Given the description of an element on the screen output the (x, y) to click on. 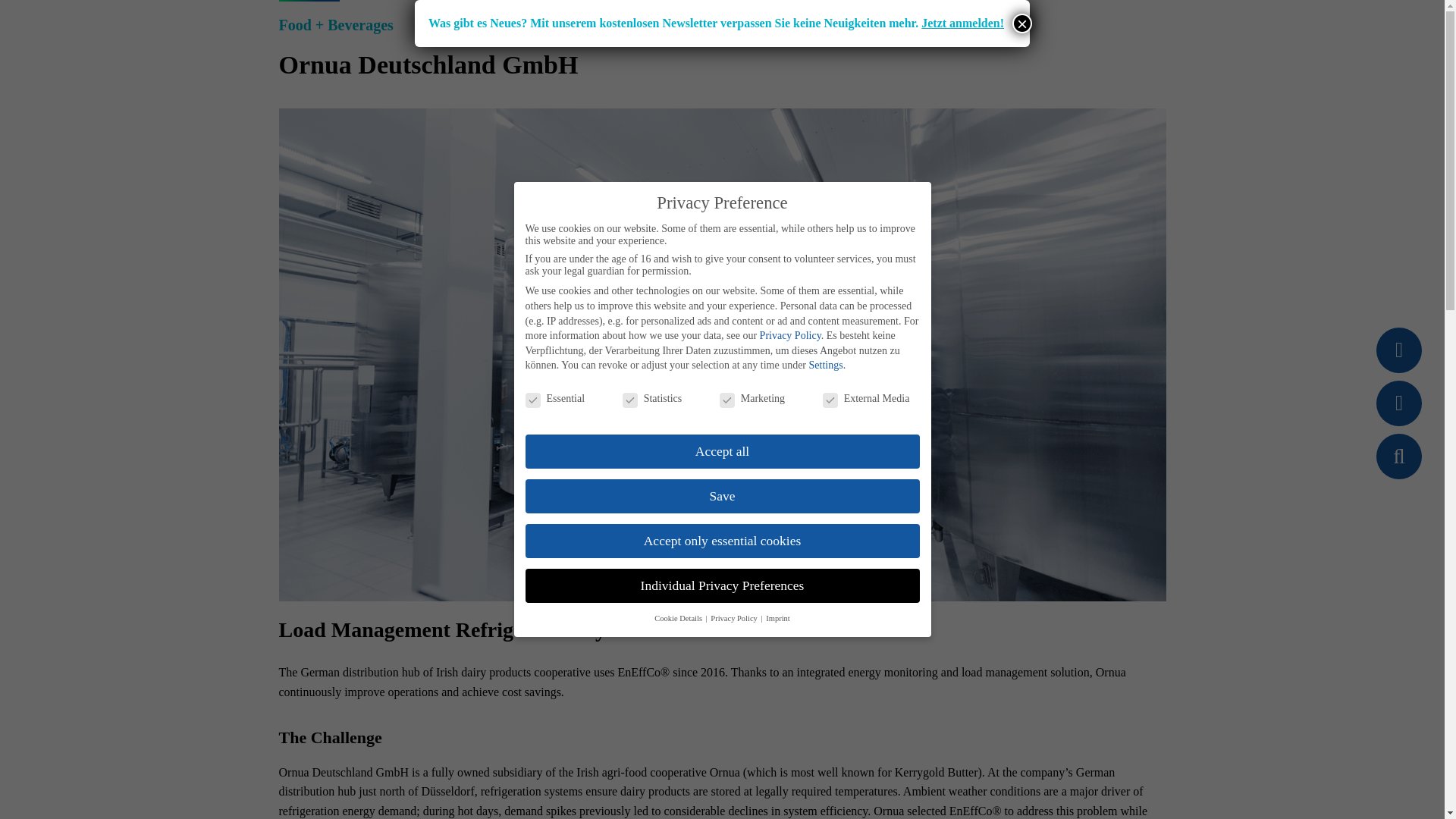
Search (1398, 456)
Newsletter (1398, 350)
Contact (1398, 402)
